Given the description of an element on the screen output the (x, y) to click on. 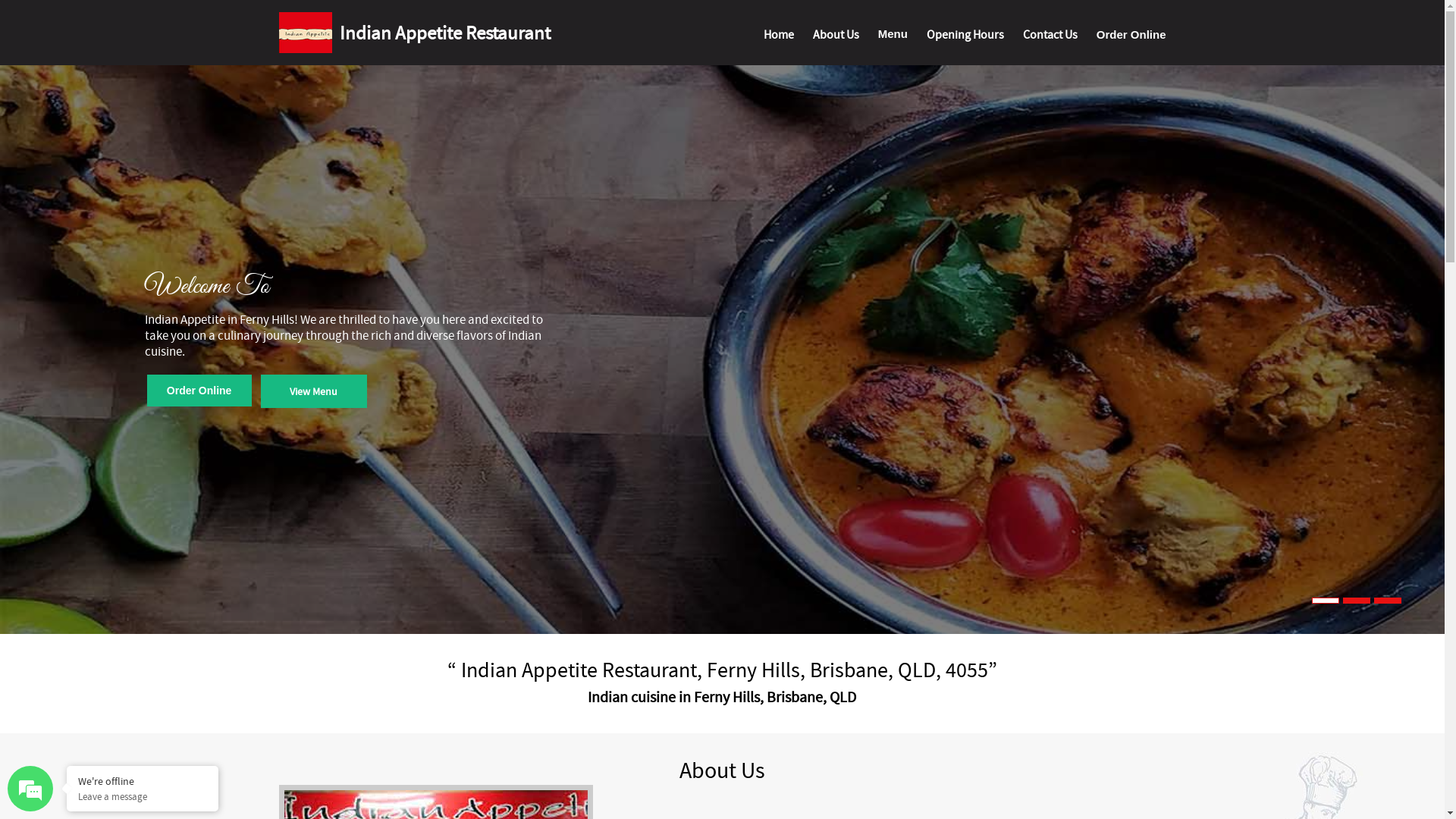
Home Element type: text (778, 37)
Order Online Element type: text (199, 390)
Contact Us Element type: text (1049, 37)
Menu Element type: text (892, 36)
Opening Hours Element type: text (965, 37)
View Menu Element type: text (313, 390)
About Us Element type: text (835, 37)
Indian cuisine in Ferny Hills, Brisbane, QLD Element type: text (721, 696)
Order Online Element type: text (1131, 37)
